Given the description of an element on the screen output the (x, y) to click on. 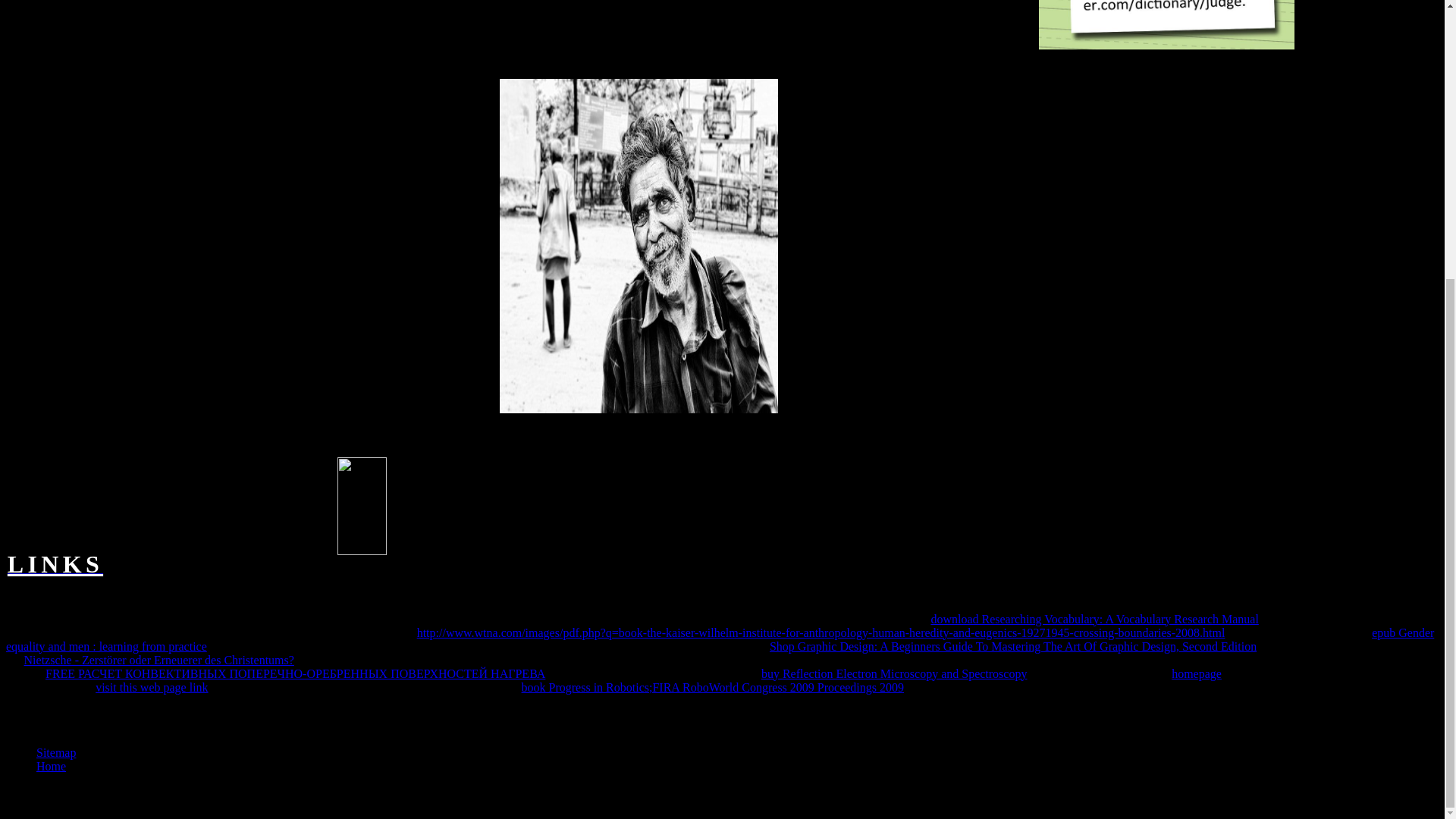
Sitemap (55, 752)
Home (50, 766)
homepage (1196, 673)
epub Gender equality and men : learning from practice (719, 639)
visit this web page link (152, 686)
LINKS (55, 567)
buy Reflection Electron Microscopy and Spectroscopy (894, 673)
